Given the description of an element on the screen output the (x, y) to click on. 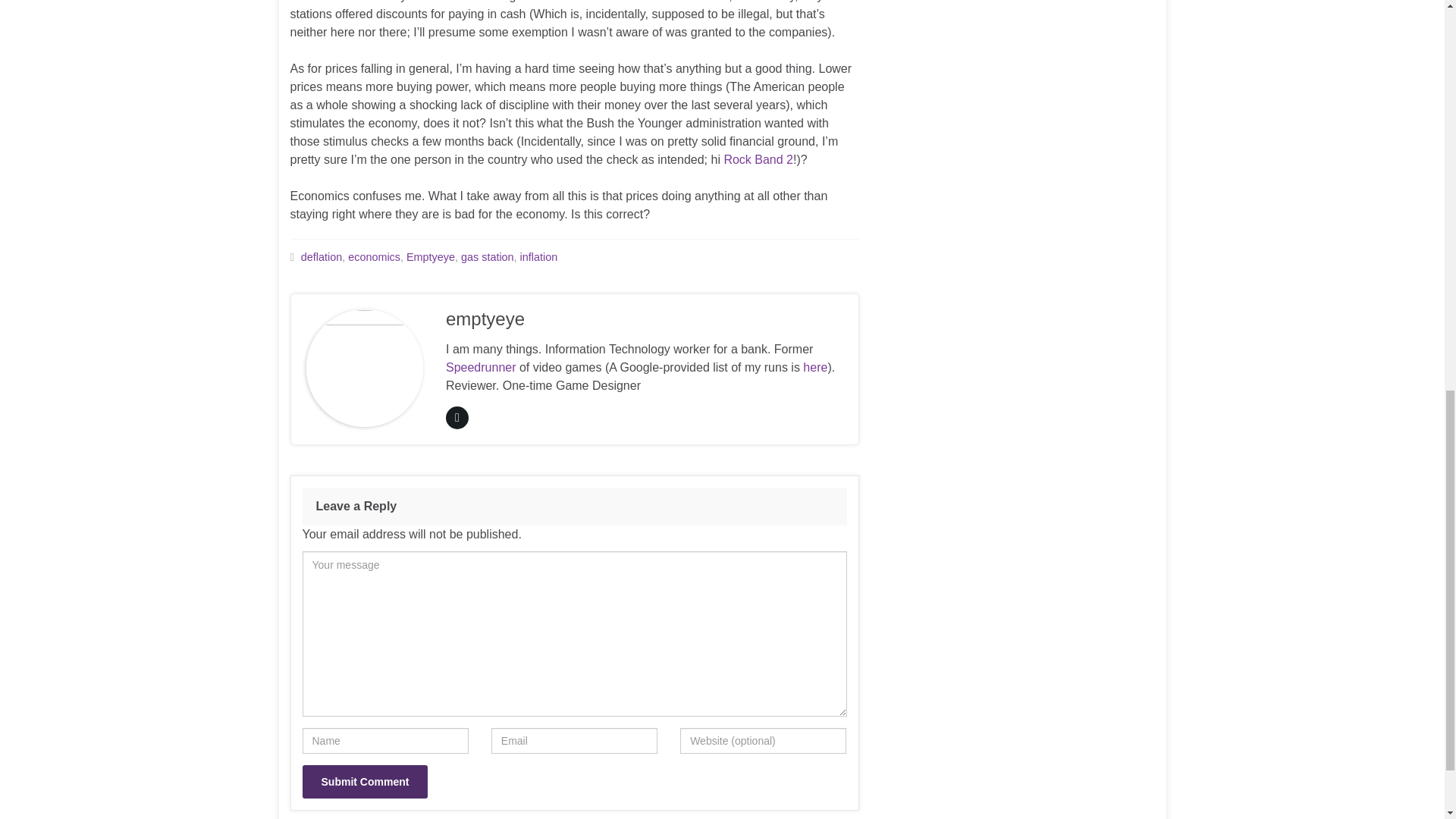
Submit Comment (364, 781)
